Given the description of an element on the screen output the (x, y) to click on. 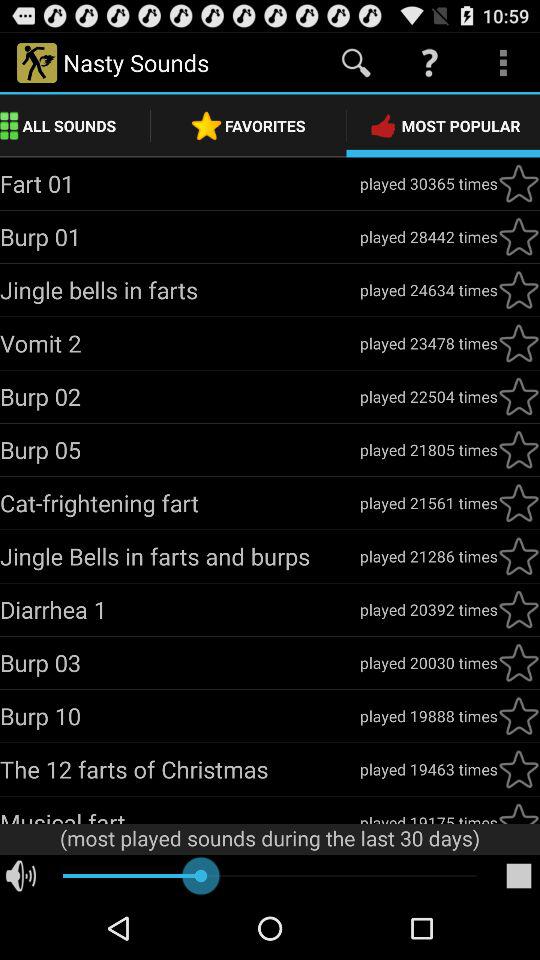
favorite icon button (519, 716)
